Given the description of an element on the screen output the (x, y) to click on. 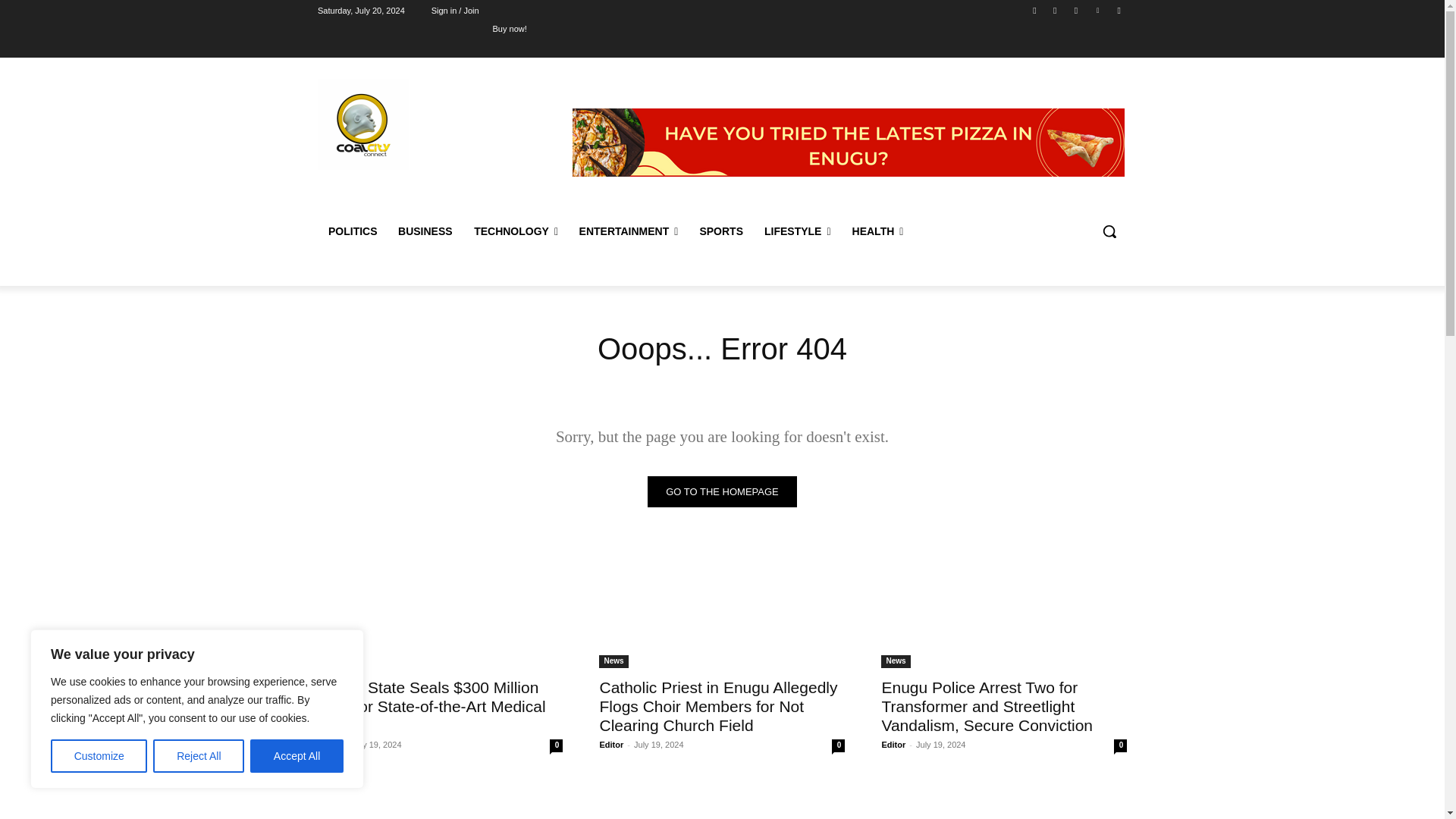
Vimeo (1097, 9)
Instagram (1055, 9)
TECHNOLOGY (516, 230)
Facebook (1034, 9)
Youtube (1117, 9)
Buy now! (510, 28)
BUSINESS (425, 230)
Accept All (296, 756)
Twitter (1075, 9)
Reject All (198, 756)
POLITICS (352, 230)
Customize (98, 756)
